Given the description of an element on the screen output the (x, y) to click on. 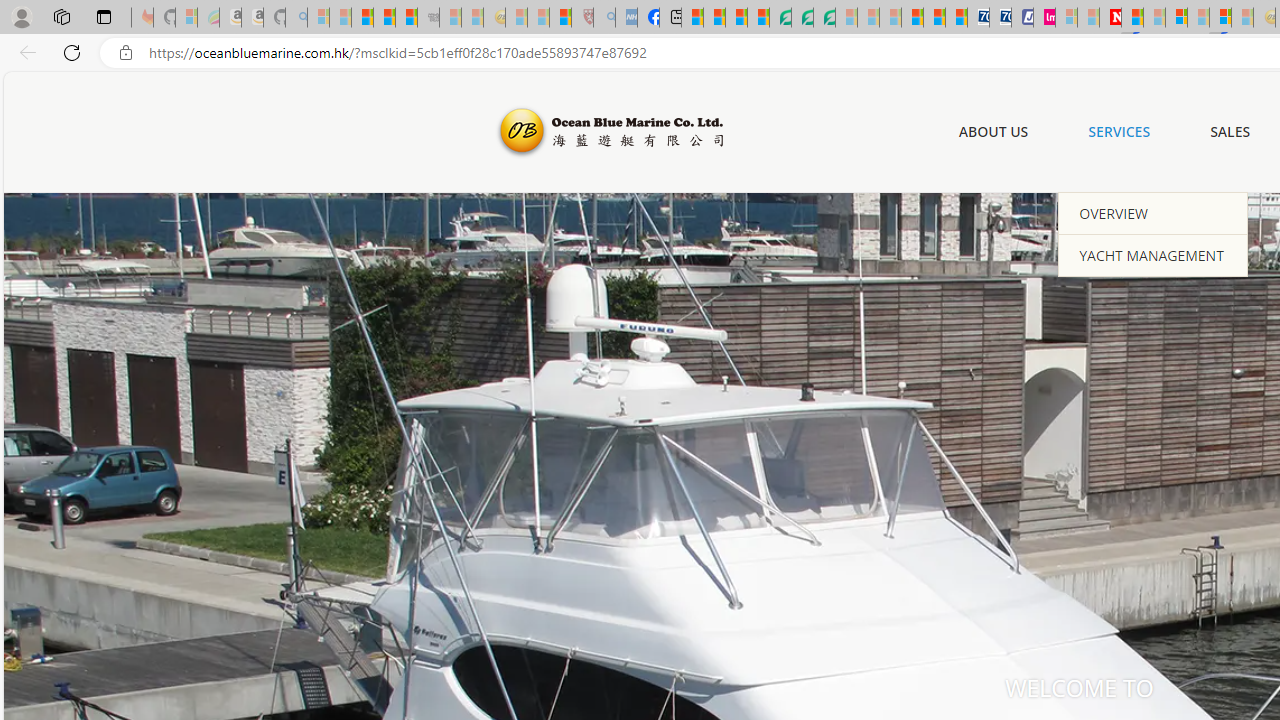
SERVICES (1119, 131)
YACHT MANAGEMENT (1153, 254)
OVERVIEW (1153, 213)
ABOUT US (993, 131)
